Given the description of an element on the screen output the (x, y) to click on. 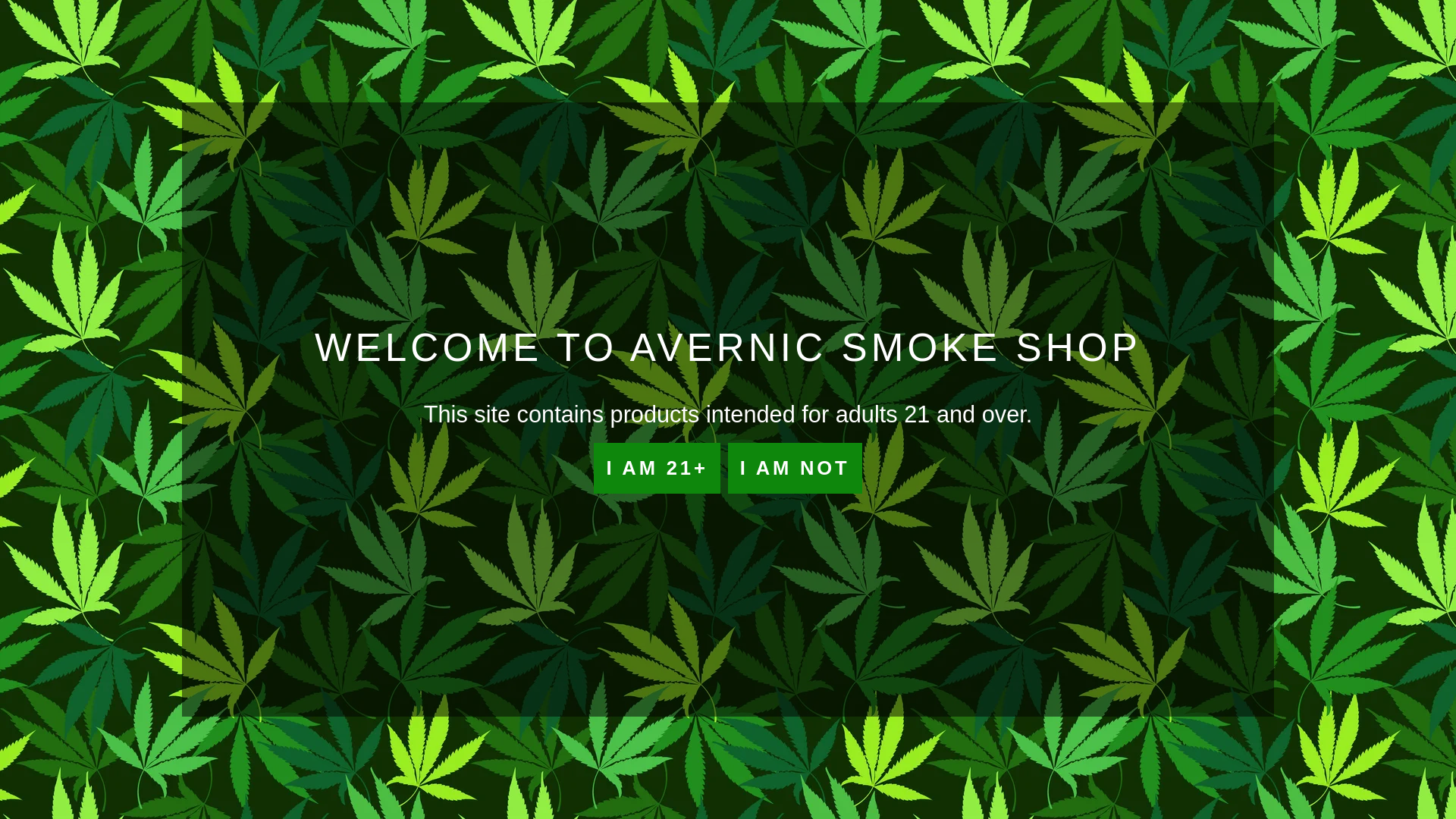
LoyaltyLion beacon (1389, 785)
1 (769, 470)
